Given the description of an element on the screen output the (x, y) to click on. 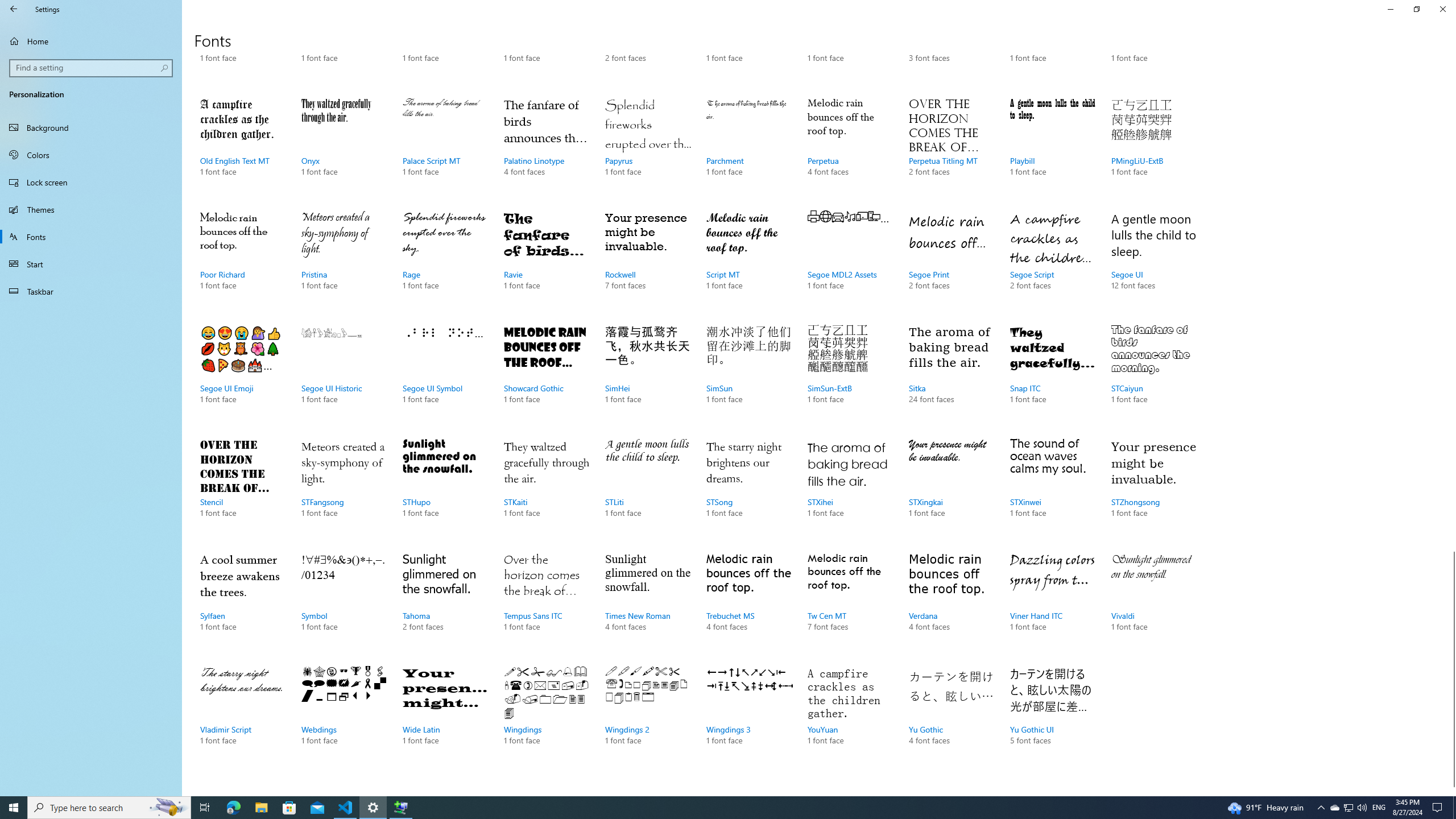
Sitka, 24 font faces (951, 375)
Settings - 1 running window (373, 807)
Script MT, 1 font face (748, 262)
Vertical Large Decrease (1451, 307)
Visual Studio Code - 1 running window (1333, 807)
Palace Script MT, 1 font face (345, 807)
NSimSun, 1 font face (445, 148)
Colors (1052, 45)
Segoe UI Symbol, 1 font face (91, 154)
Wide Latin, 1 font face (445, 375)
Tempus Sans ITC, 1 font face (445, 716)
STSong, 1 font face (545, 603)
Nirmala UI, 3 font faces (748, 489)
